Given the description of an element on the screen output the (x, y) to click on. 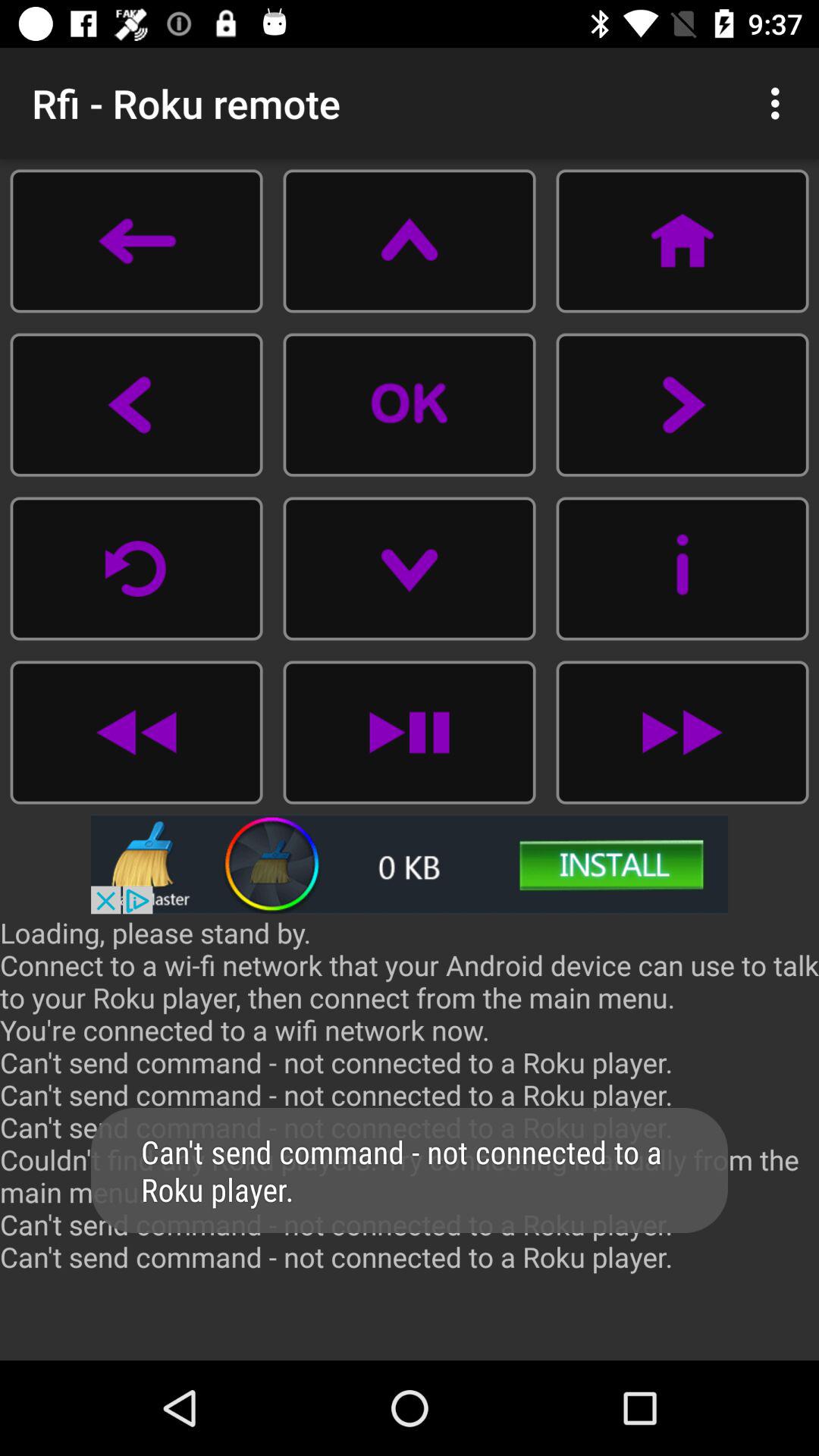
go to next (682, 404)
